Given the description of an element on the screen output the (x, y) to click on. 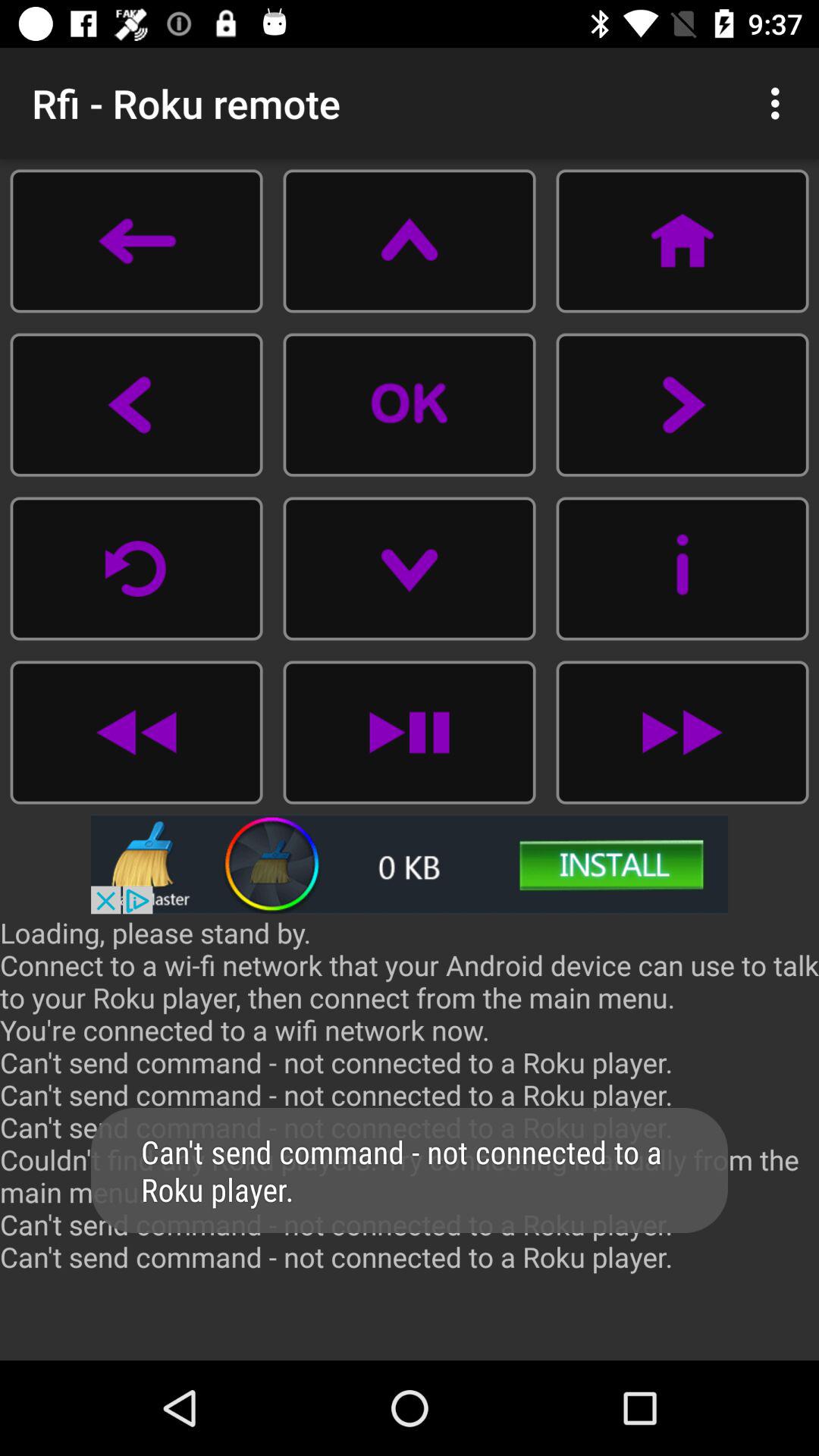
go to next (682, 404)
